Given the description of an element on the screen output the (x, y) to click on. 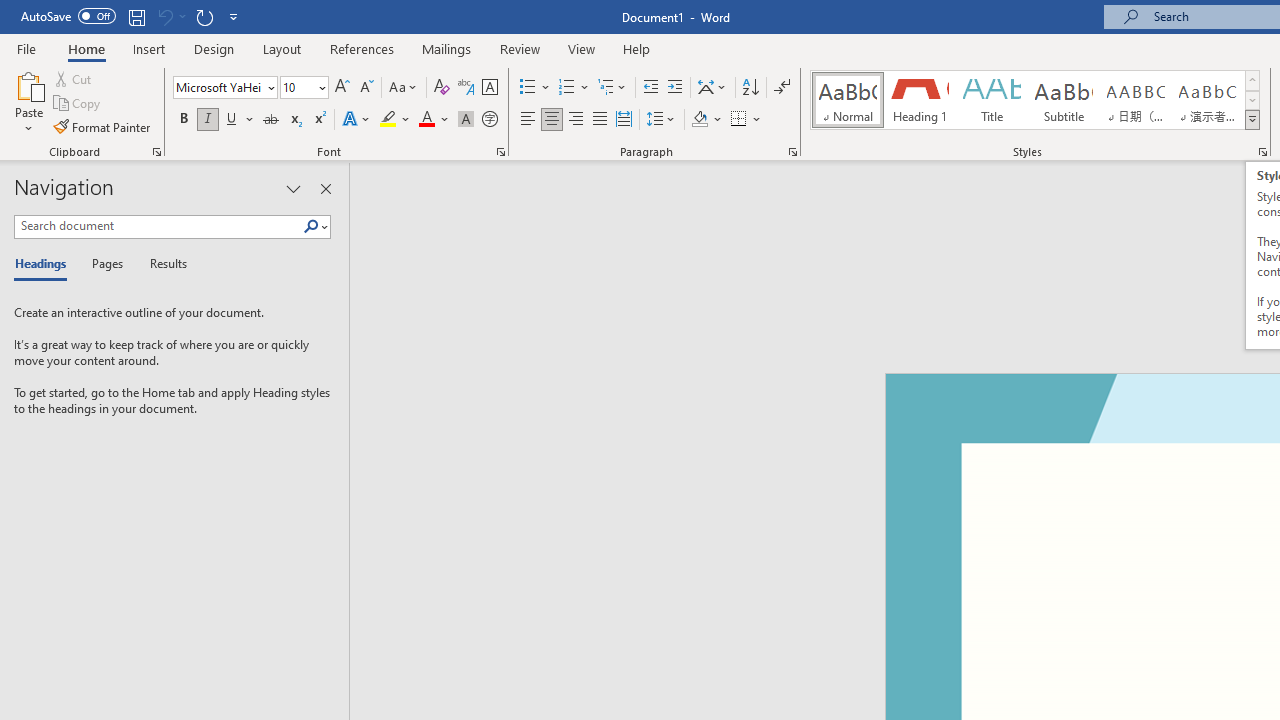
Show/Hide Editing Marks (781, 87)
Styles... (1262, 151)
Styles (1252, 120)
Row Down (1252, 100)
Center (552, 119)
Heading 1 (920, 100)
Paragraph... (792, 151)
Font Color (434, 119)
